Given the description of an element on the screen output the (x, y) to click on. 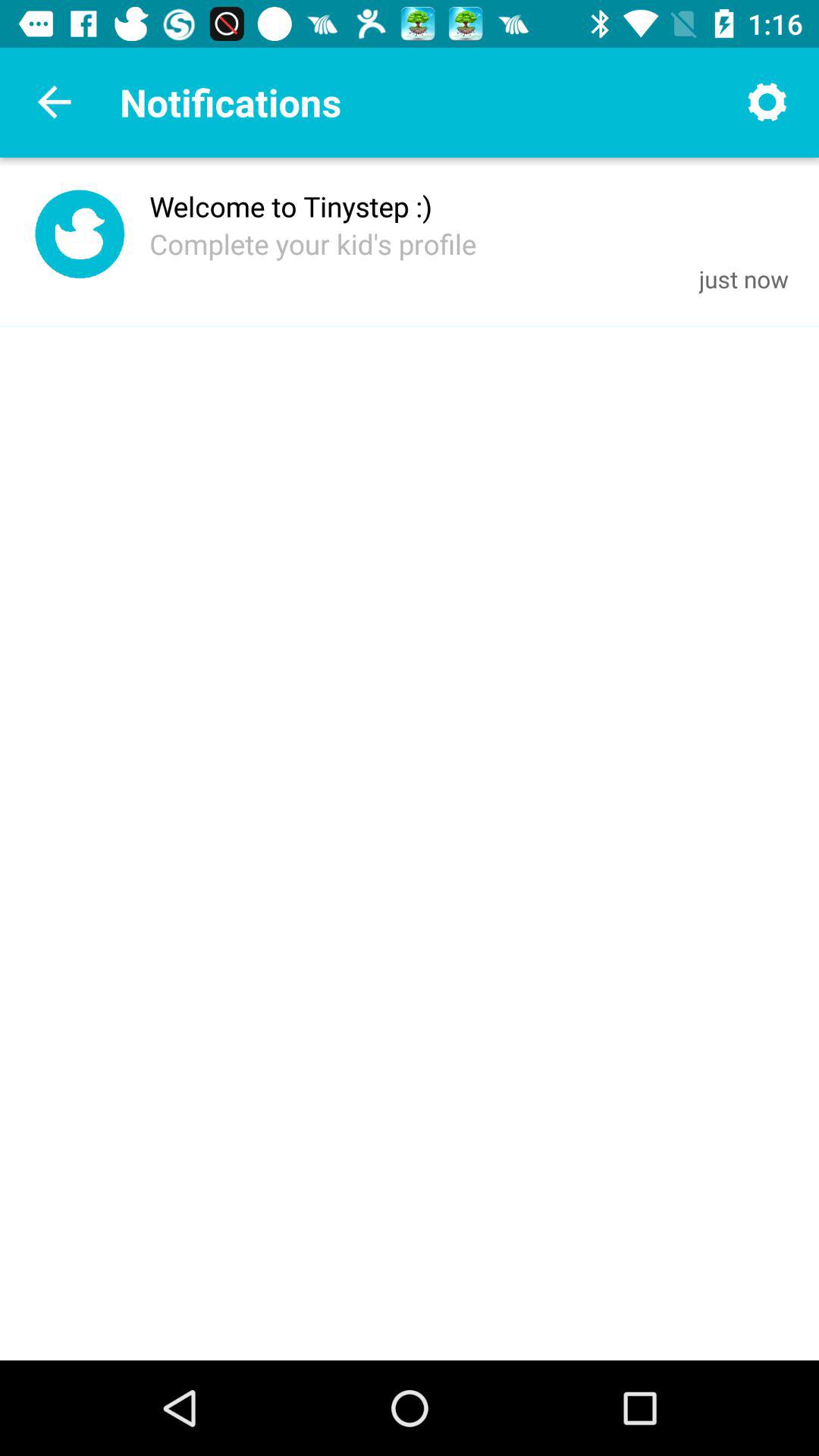
open icon next to the just now item (312, 243)
